Given the description of an element on the screen output the (x, y) to click on. 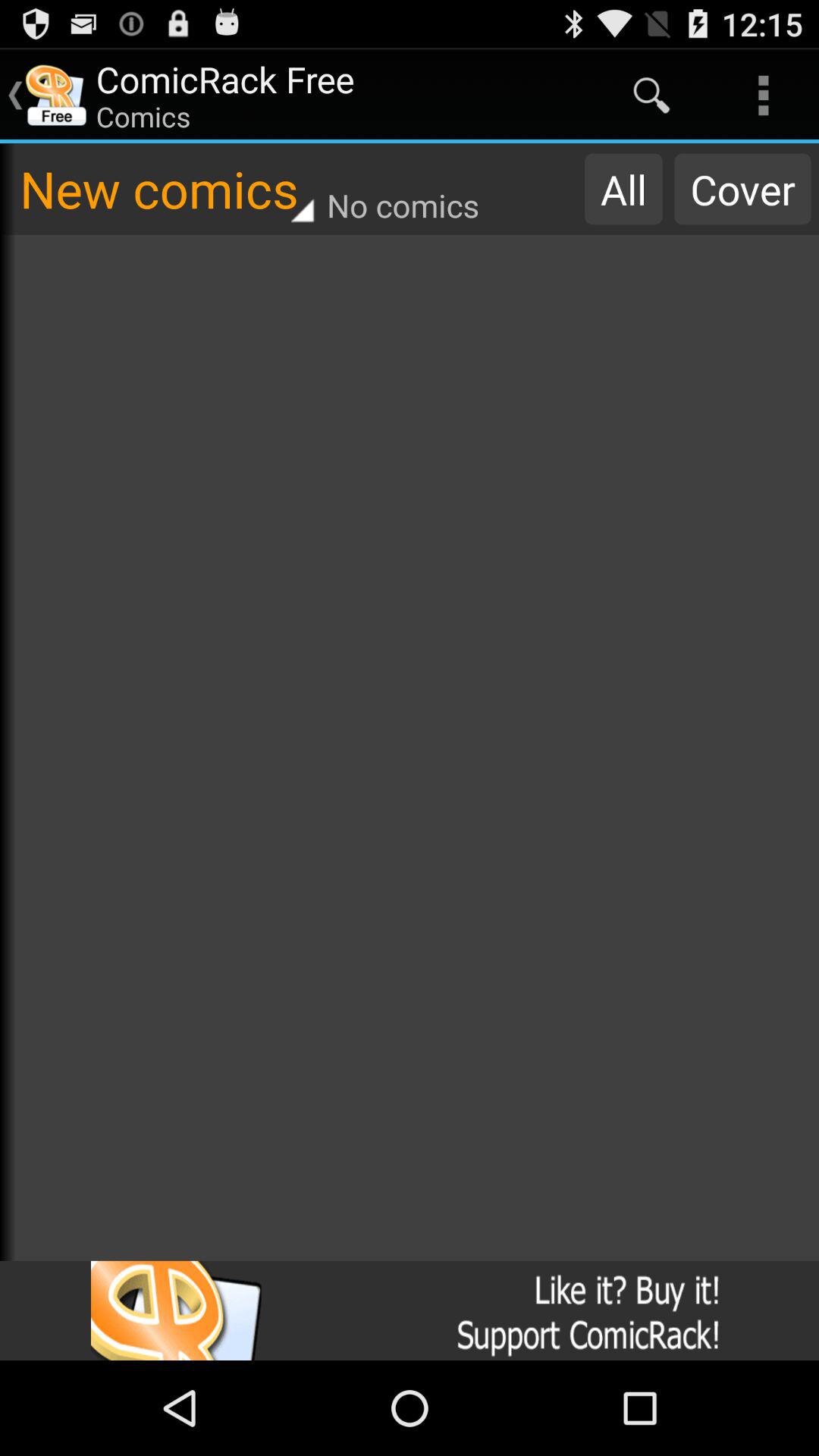
open the icon next to cover app (623, 188)
